Given the description of an element on the screen output the (x, y) to click on. 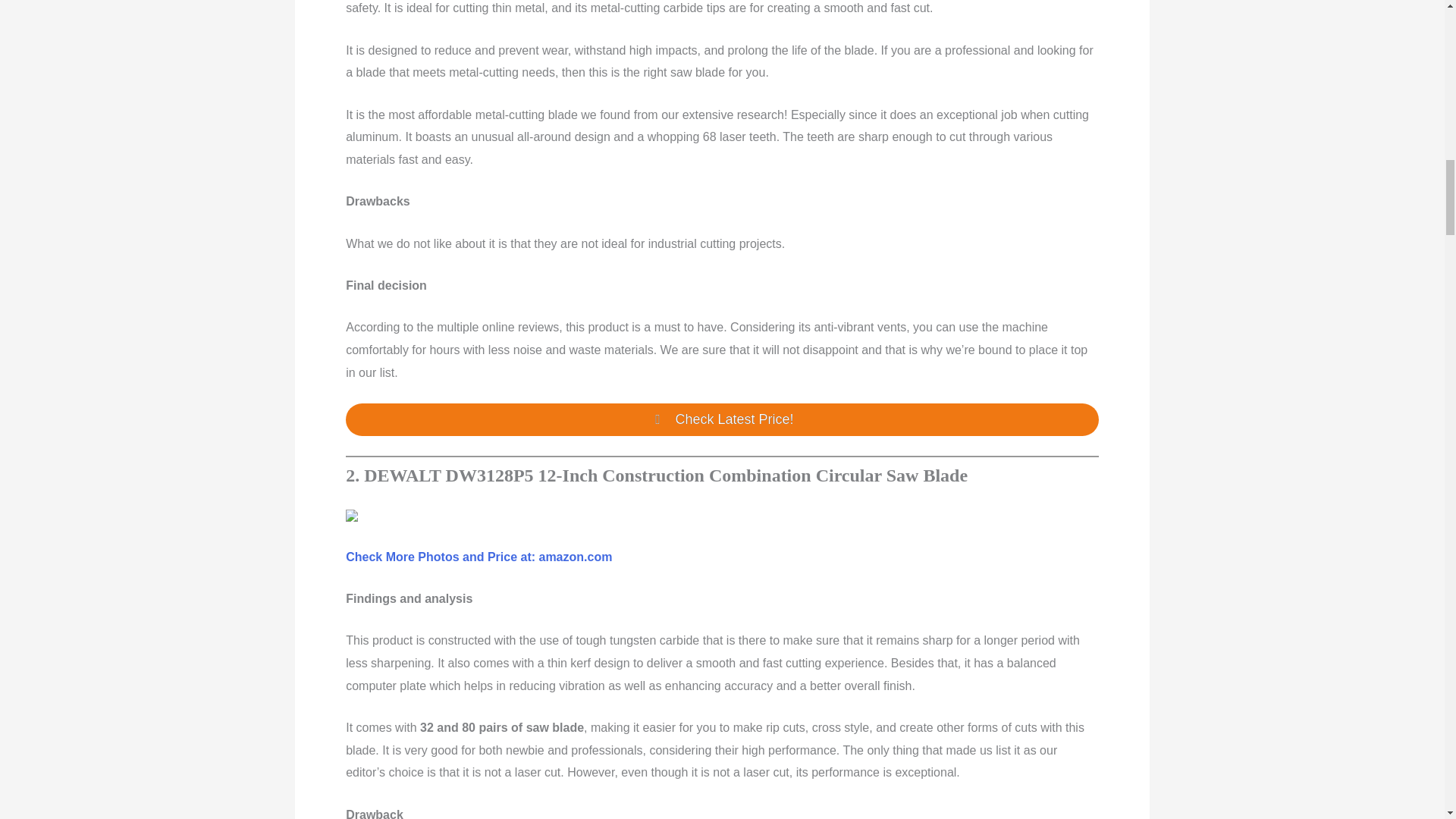
Check Latest Price! (722, 419)
Check More Photos and Price at: amazon.com (478, 556)
